Given the description of an element on the screen output the (x, y) to click on. 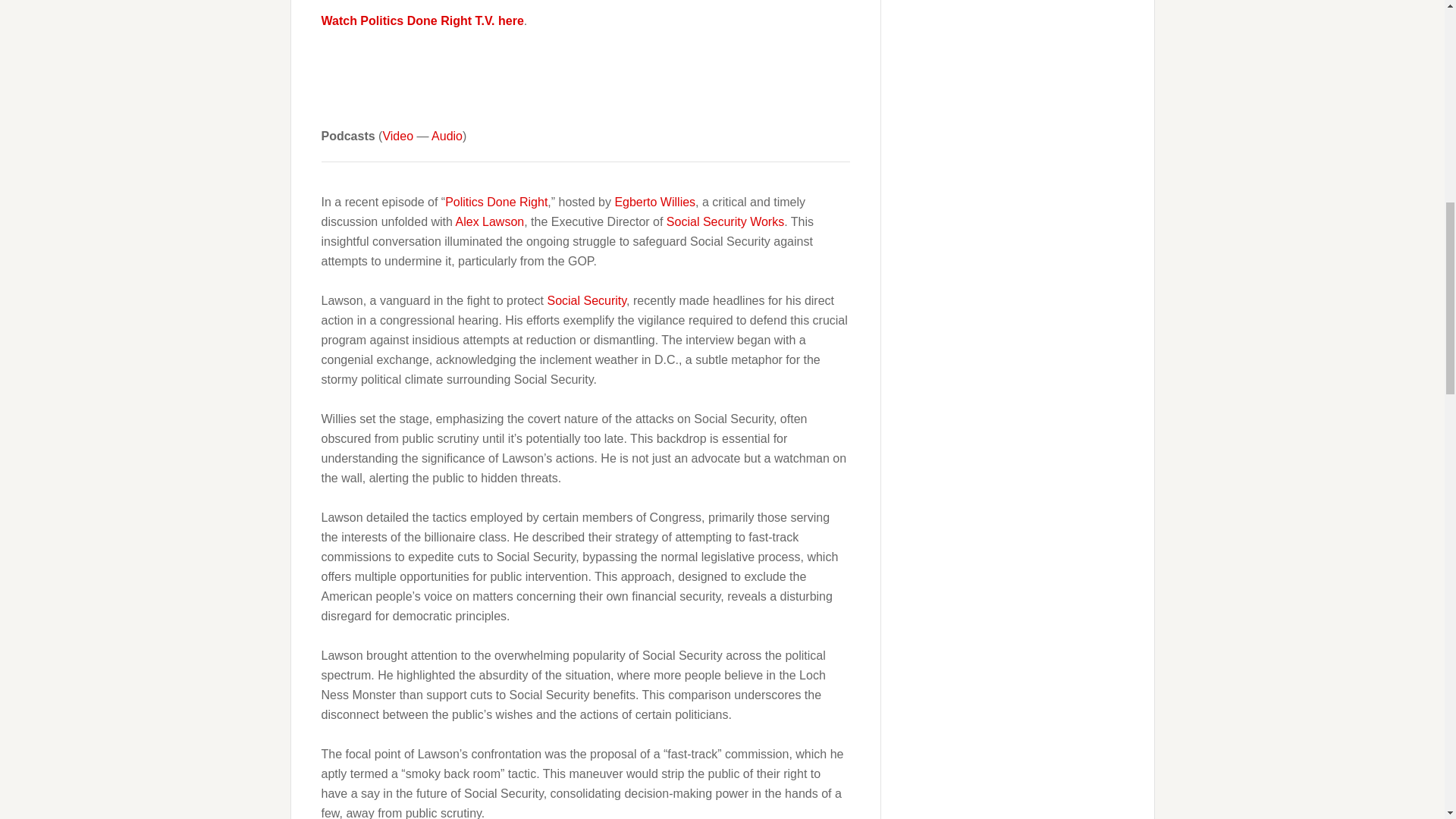
Watch Politics Done Right T.V. here (422, 19)
Egberto Willies (654, 201)
Politics Done Right (496, 201)
Audio (446, 134)
Alex Lawson (489, 221)
Video (397, 134)
